Given the description of an element on the screen output the (x, y) to click on. 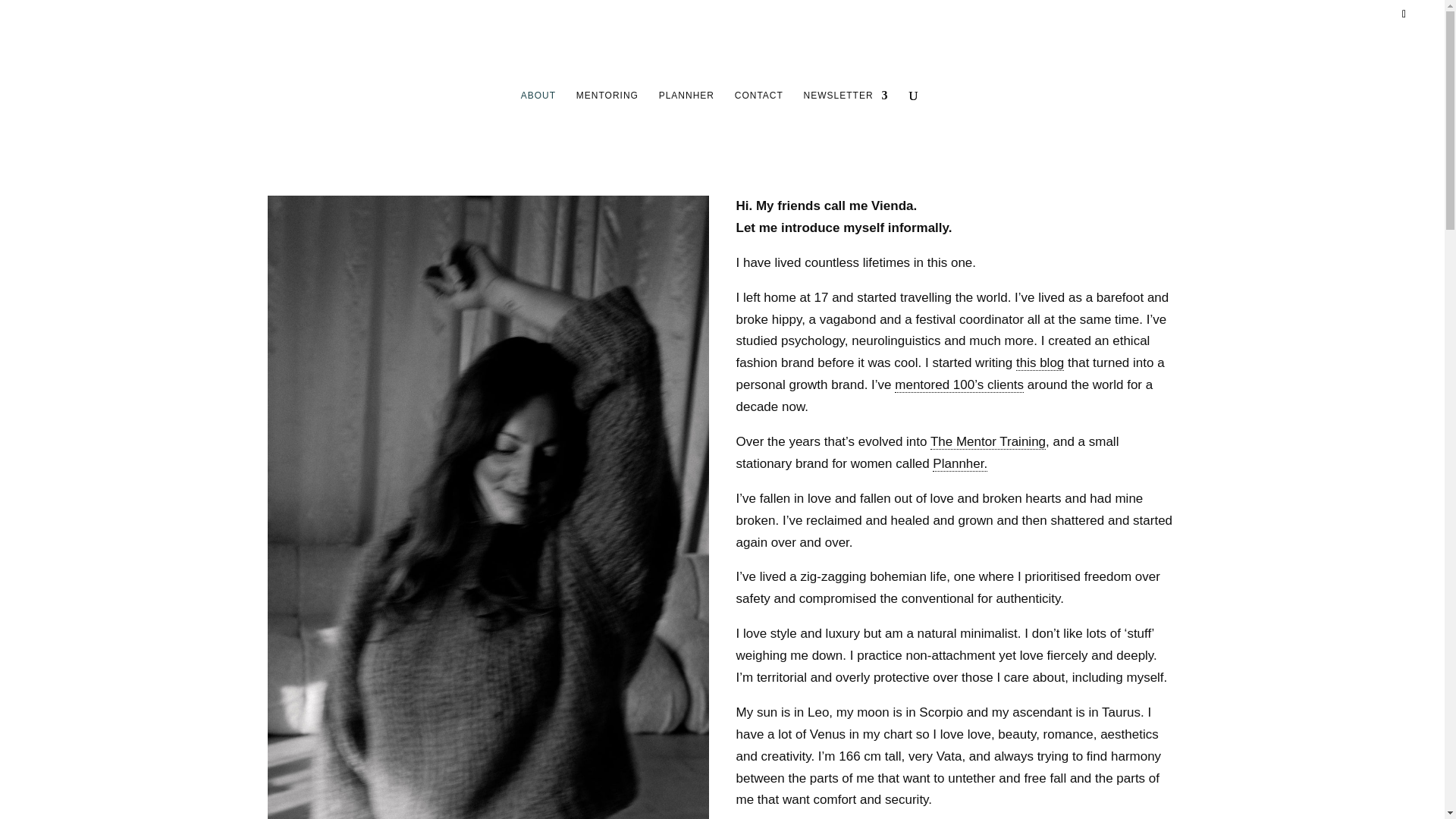
Plannher. (960, 463)
this blog (1040, 363)
The Mentor Training (987, 441)
NEWSLETTER (845, 125)
